Given the description of an element on the screen output the (x, y) to click on. 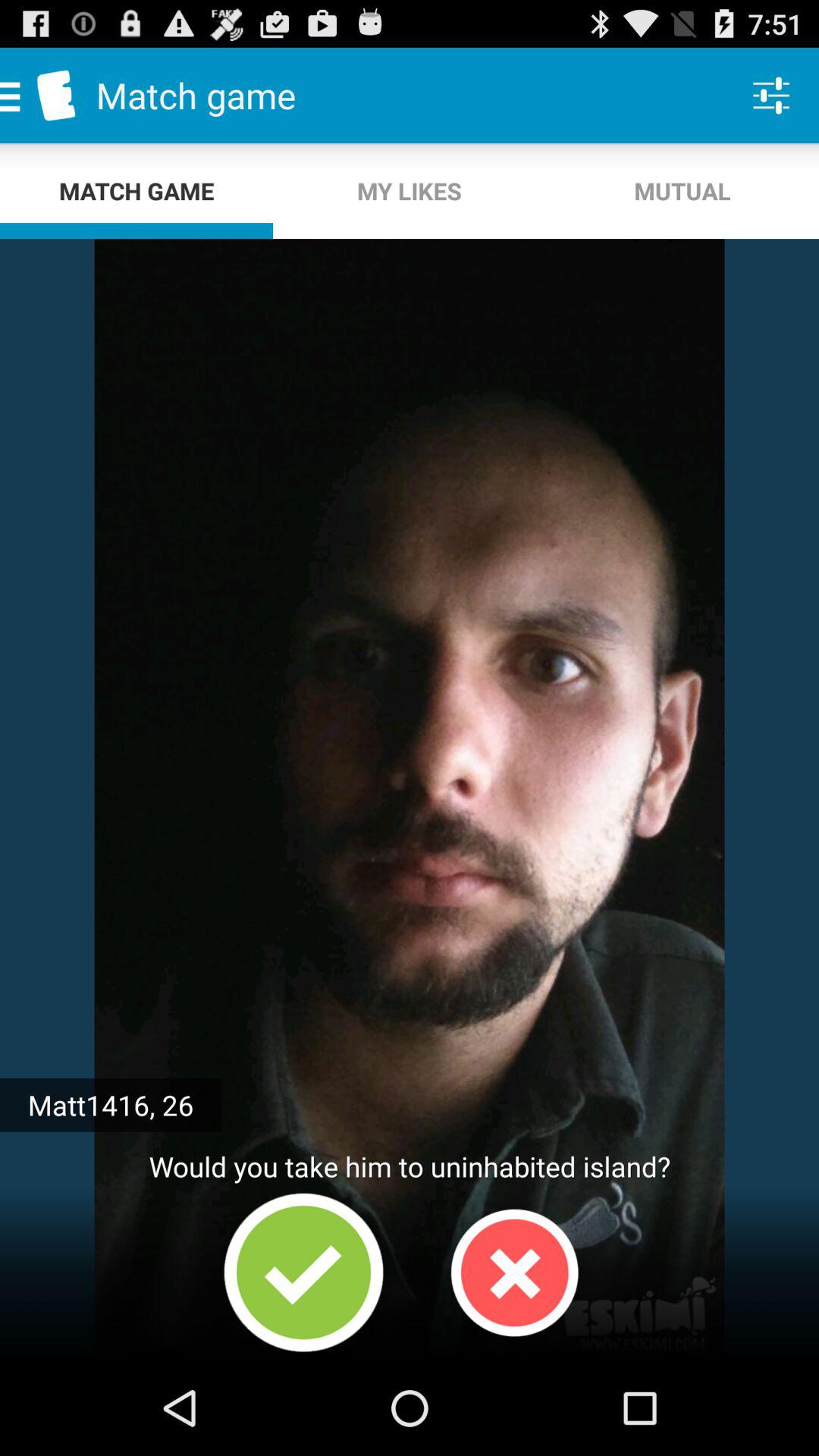
launch the icon next to the match game icon (409, 190)
